Given the description of an element on the screen output the (x, y) to click on. 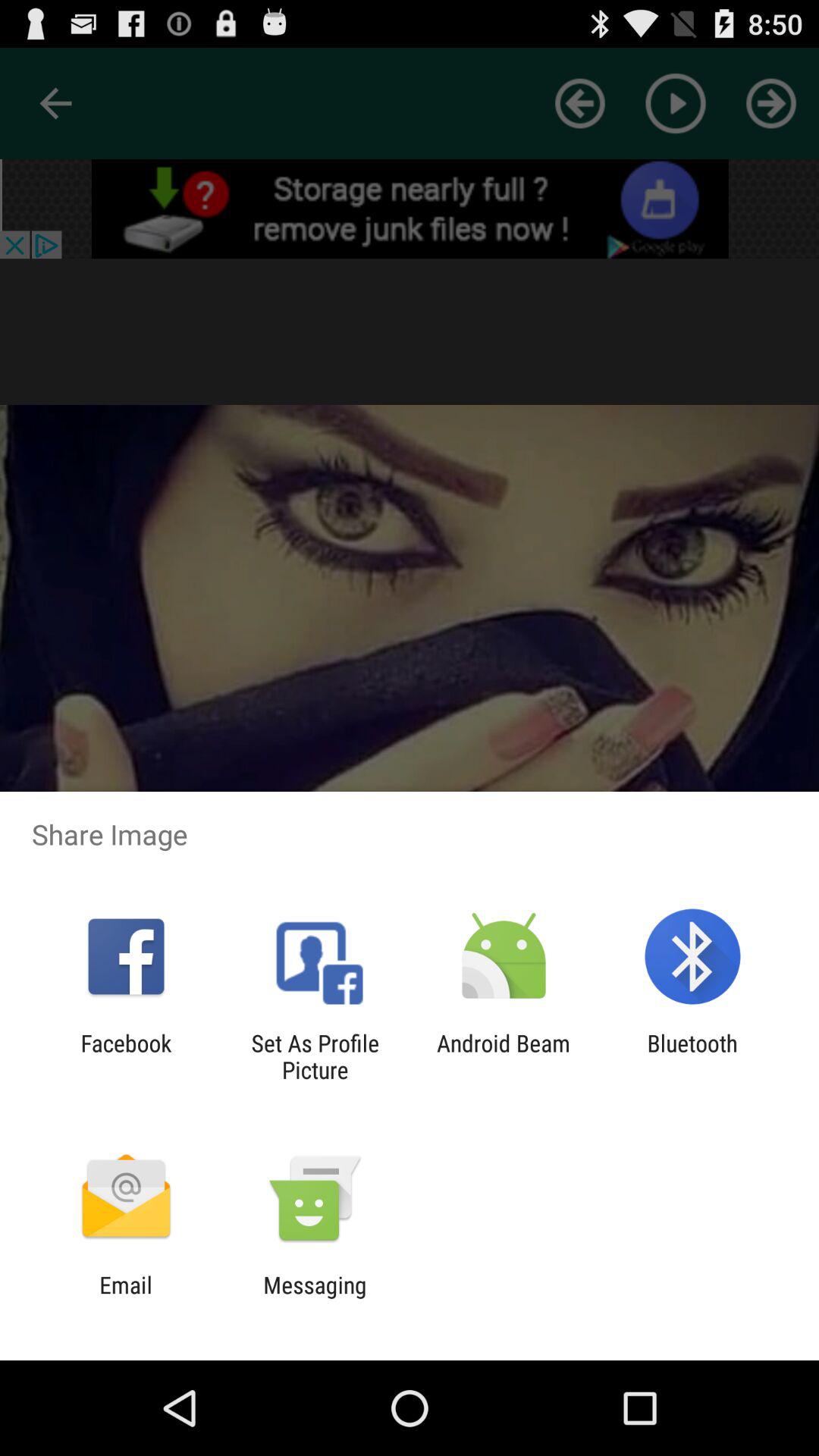
turn off app next to bluetooth icon (503, 1056)
